Given the description of an element on the screen output the (x, y) to click on. 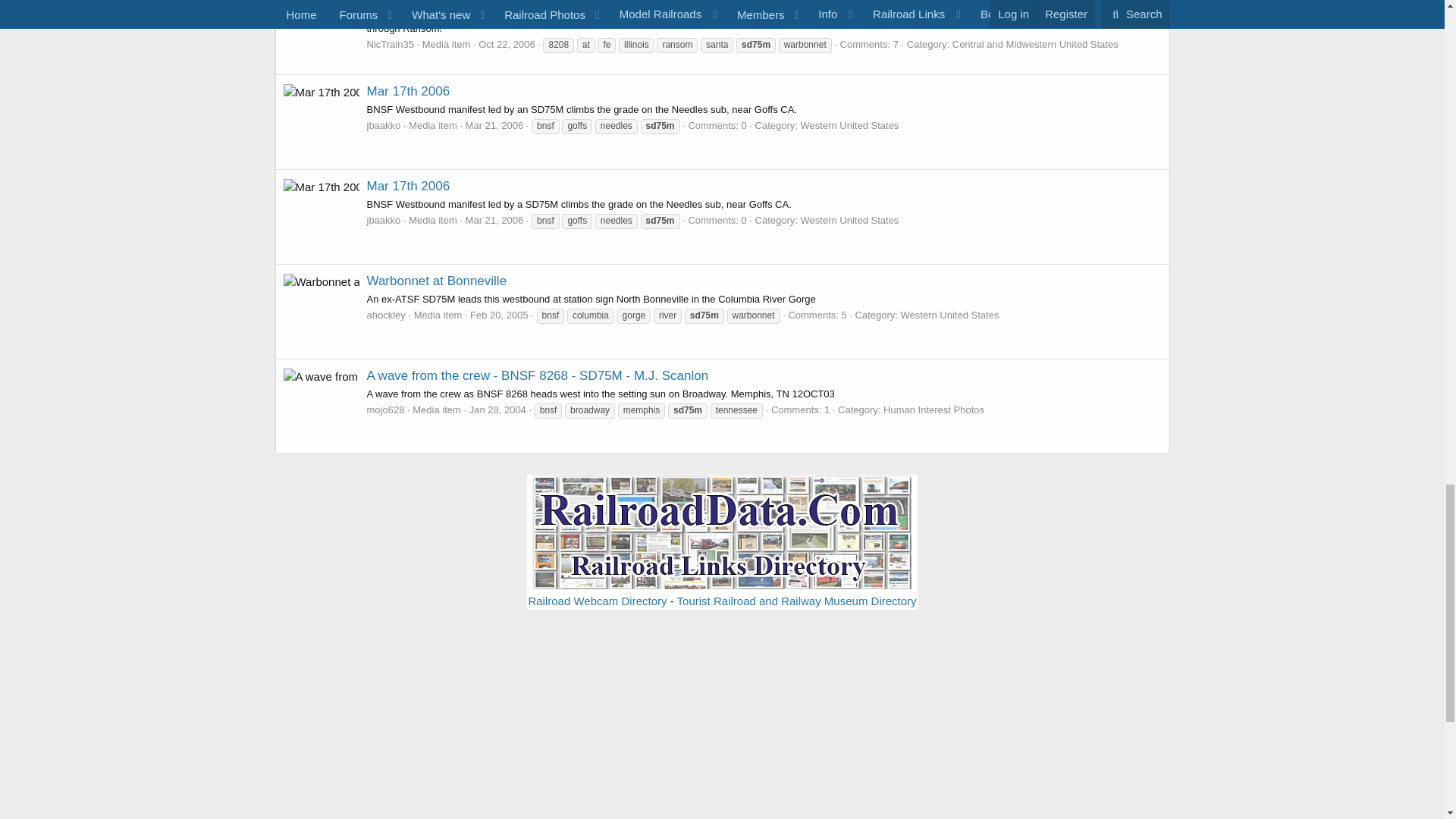
Oct 22, 2006 at 4:07 PM (506, 43)
Mar 21, 2006 at 10:26 AM (494, 125)
Jan 28, 2004 at 6:18 PM (496, 409)
Mar 21, 2006 at 10:26 AM (494, 220)
Feb 20, 2005 at 2:34 PM (499, 315)
